Given the description of an element on the screen output the (x, y) to click on. 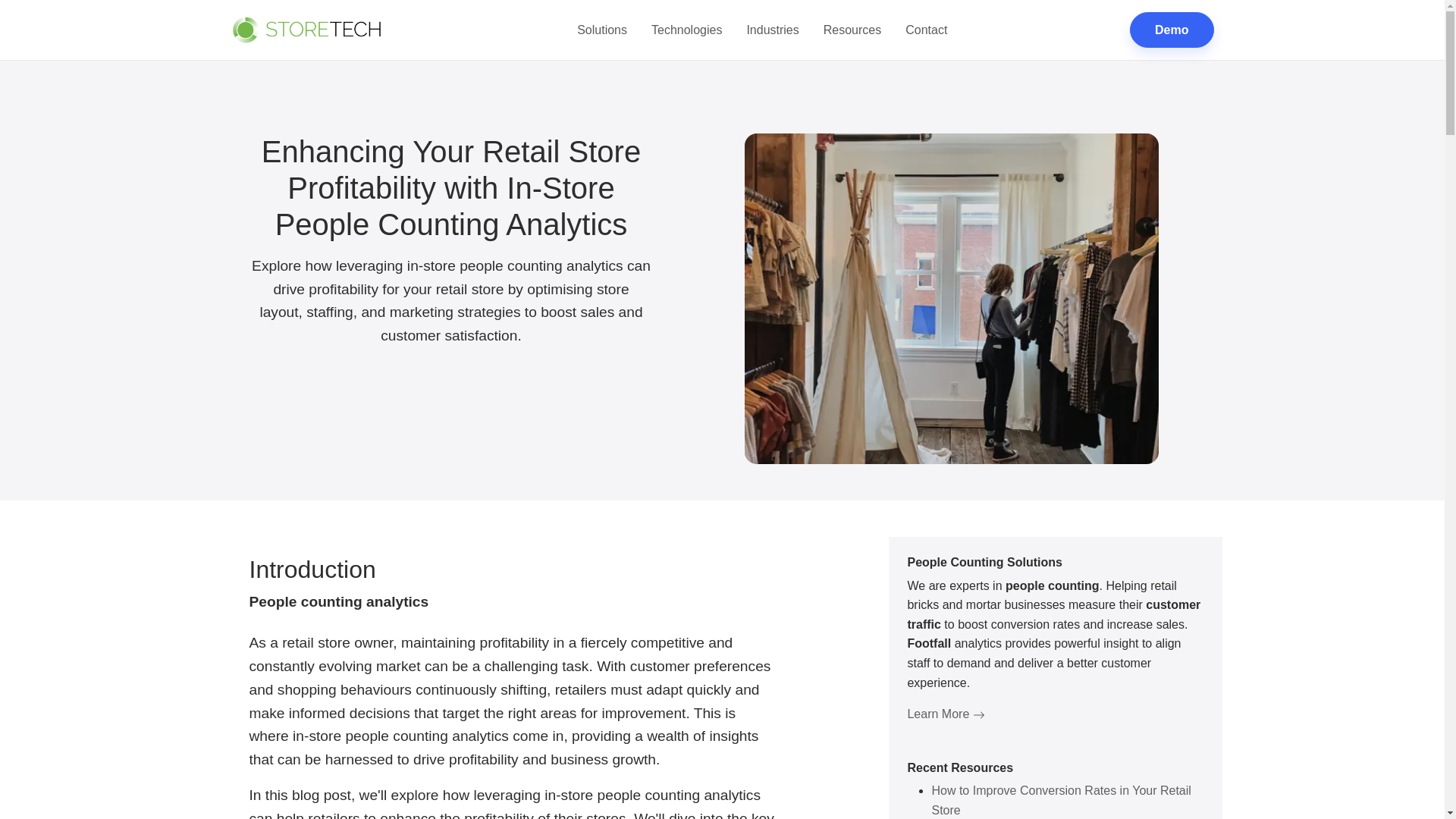
Industries (771, 29)
Resources (851, 29)
Demo (1170, 29)
Technologies (686, 29)
Learn More  (945, 713)
How to Improve Conversion Rates in Your Retail Store (1061, 799)
Contact (926, 29)
Solutions (601, 29)
